Given the description of an element on the screen output the (x, y) to click on. 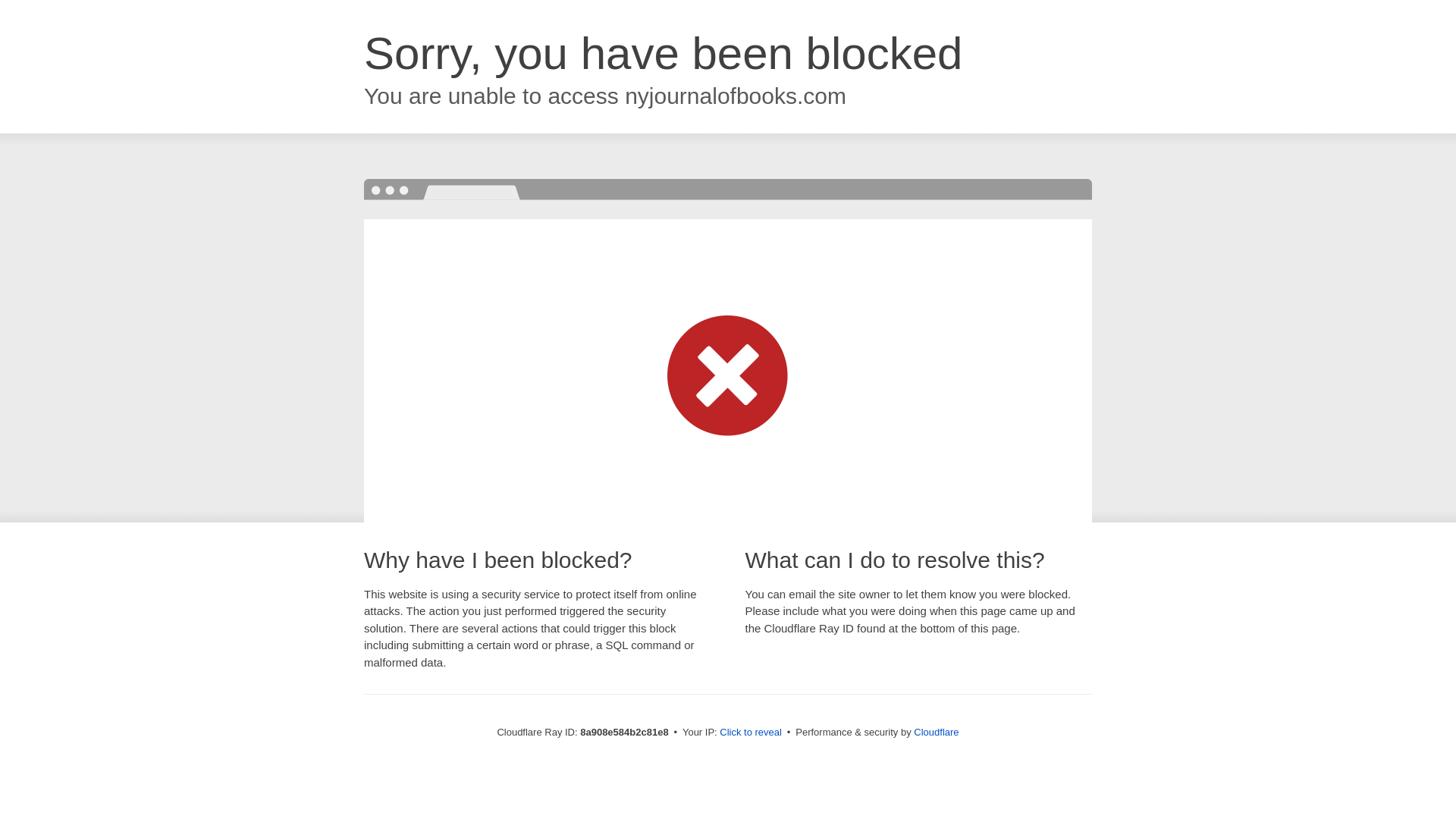
Click to reveal (750, 732)
Cloudflare (936, 731)
